Given the description of an element on the screen output the (x, y) to click on. 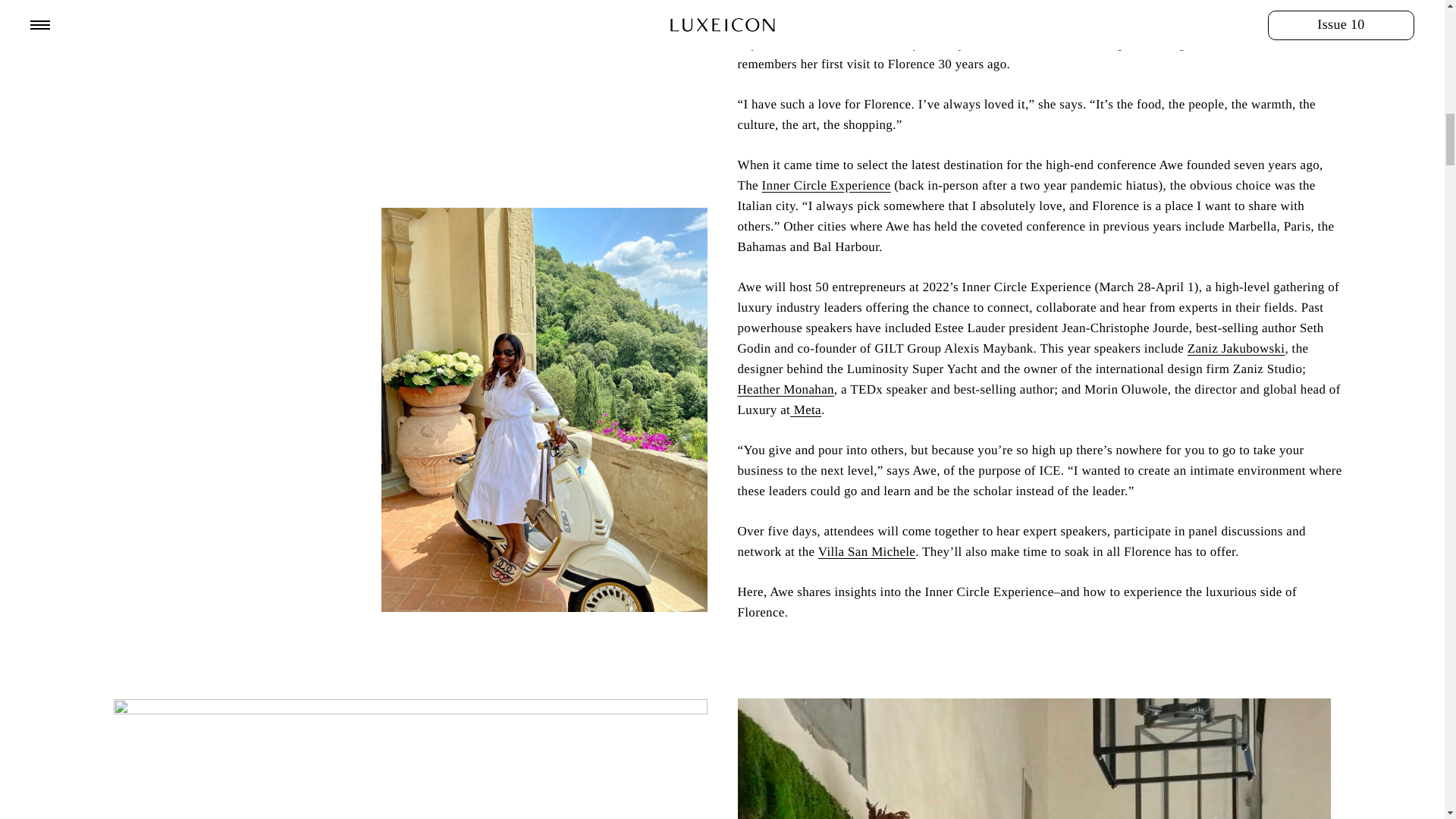
Villa San Michele (866, 551)
Inner Circle Experience (826, 185)
Meta (805, 409)
Zaniz Jakubowski (1236, 348)
Heather Monahan (784, 389)
Eazy Gyft (1281, 22)
Bridal Circle Company (1012, 22)
